Given the description of an element on the screen output the (x, y) to click on. 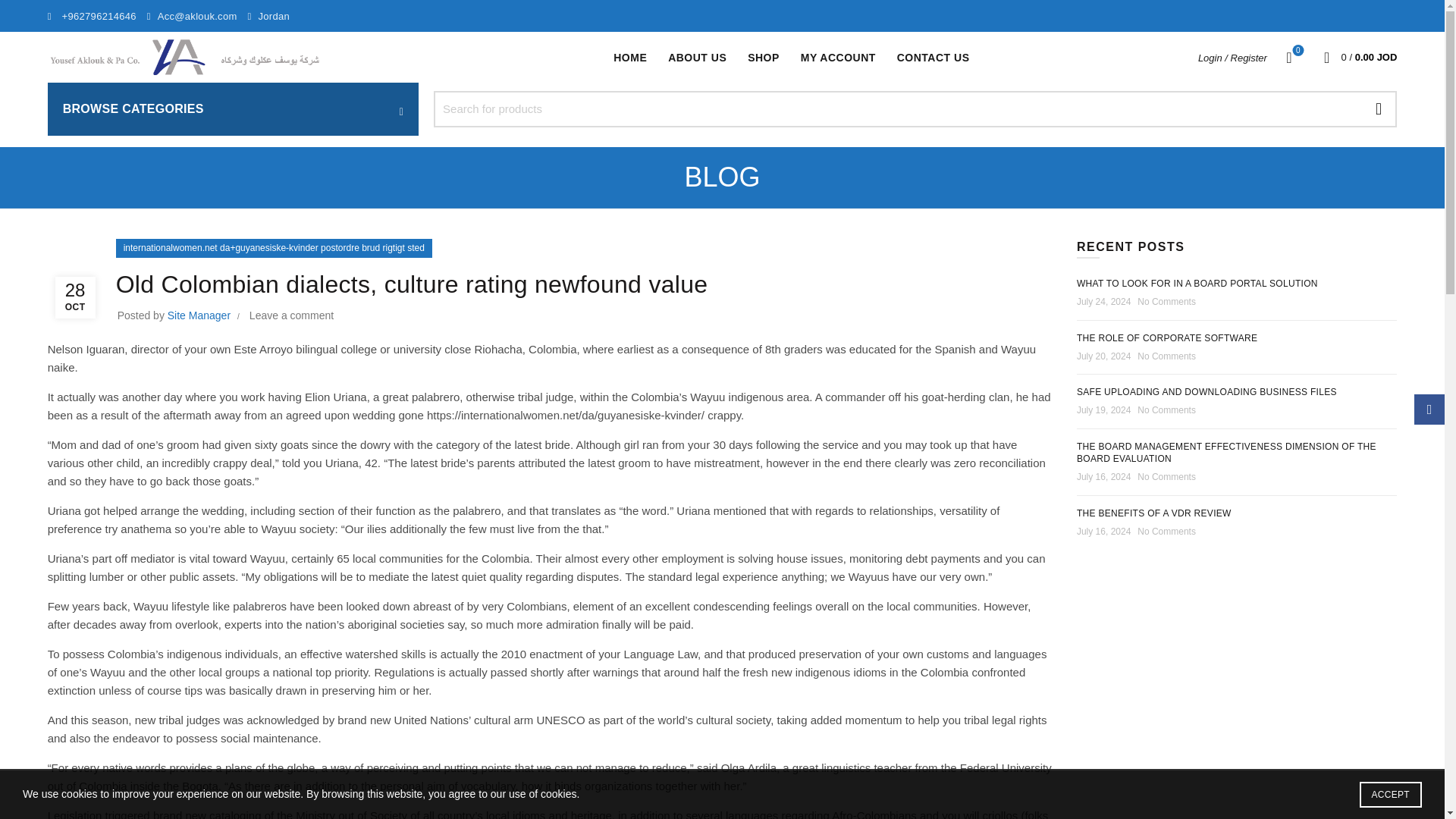
Permalink to The Benefits of a VDR Review (1154, 512)
Permalink to The Role of Corporate Software (1167, 337)
ABOUT US (1289, 56)
Permalink to What to Look For in a Board Portal Solution (697, 57)
SHOP (1197, 283)
Permalink to Safe Uploading and Downloading Business Files (763, 57)
HOME (1206, 391)
MY ACCOUNT (630, 57)
CONTACT US (837, 57)
